Given the description of an element on the screen output the (x, y) to click on. 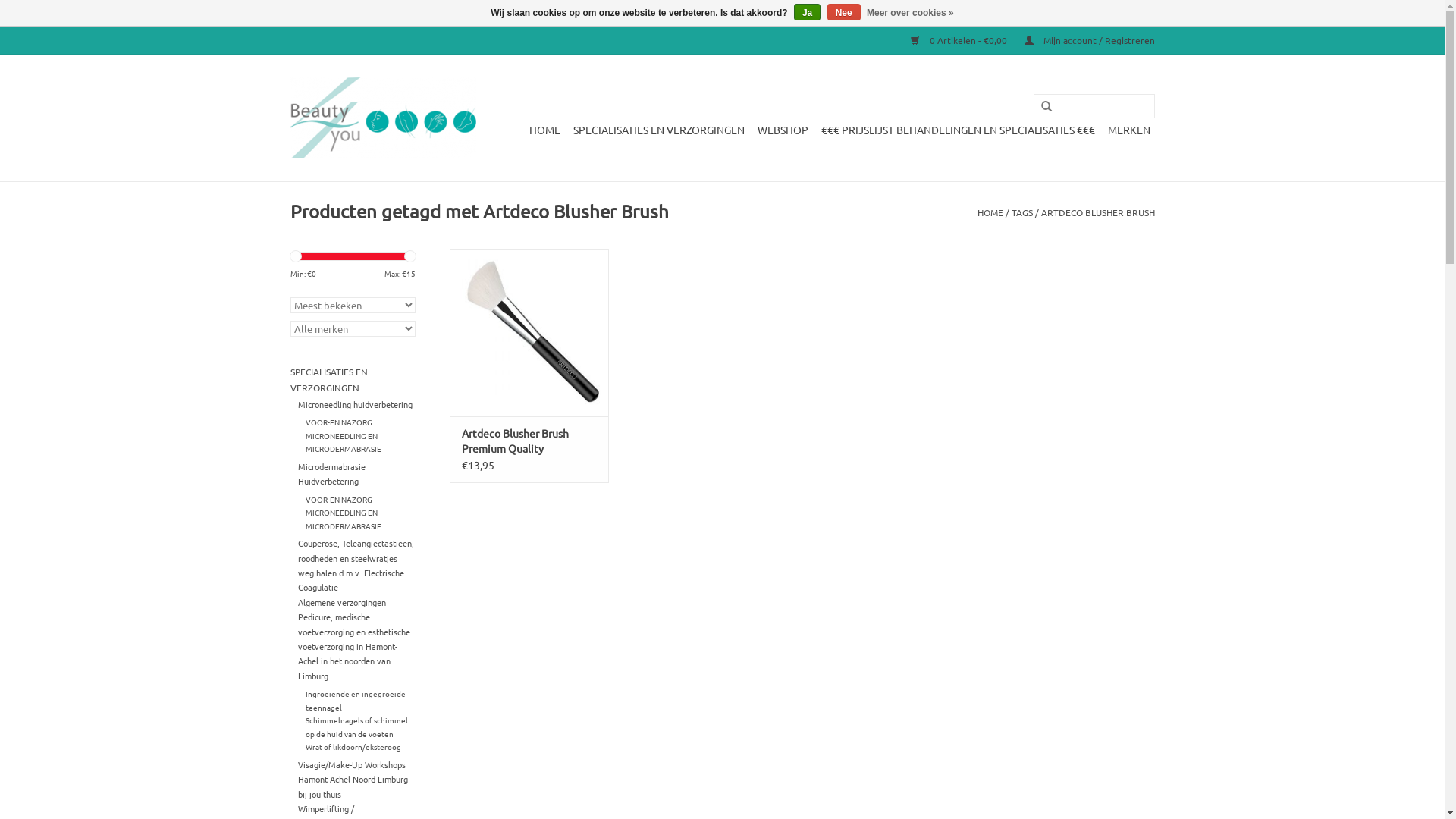
Artdeco Blusher Brush Premium Quality Element type: hover (528, 332)
SPECIALISATIES EN VERZORGINGEN Element type: text (351, 380)
VOOR-EN NAZORG MICRONEEDLING EN MICRODERMABRASIE Element type: text (343, 512)
Artdeco Blusher Brush Premium Quality Element type: text (528, 440)
Mijn account / Registreren Element type: text (1081, 40)
HOME Element type: text (544, 129)
TAGS Element type: text (1021, 212)
Wrat of likdoorn/eksteroog Element type: text (353, 746)
WEBSHOP Element type: text (782, 129)
Microdermabrasie Huidverbetering Element type: text (331, 473)
Microneedling huidverbetering Element type: text (355, 404)
SPECIALISATIES EN VERZORGINGEN Element type: text (658, 129)
Nee Element type: text (843, 11)
Algemene verzorgingen Element type: text (341, 602)
Beauty4You -Hamont-Achel Limburg- Welkom Element type: hover (382, 117)
Schimmelnagels of schimmel op de huid van de voeten Element type: text (356, 726)
HOME Element type: text (989, 212)
ARTDECO BLUSHER BRUSH Element type: text (1097, 212)
VOOR-EN NAZORG MICRONEEDLING EN MICRODERMABRASIE Element type: text (343, 435)
Ja Element type: text (806, 11)
Ingroeiende en ingegroeide teennagel Element type: text (355, 699)
Zoeken Element type: hover (1040, 106)
MERKEN Element type: text (1128, 129)
